Given the description of an element on the screen output the (x, y) to click on. 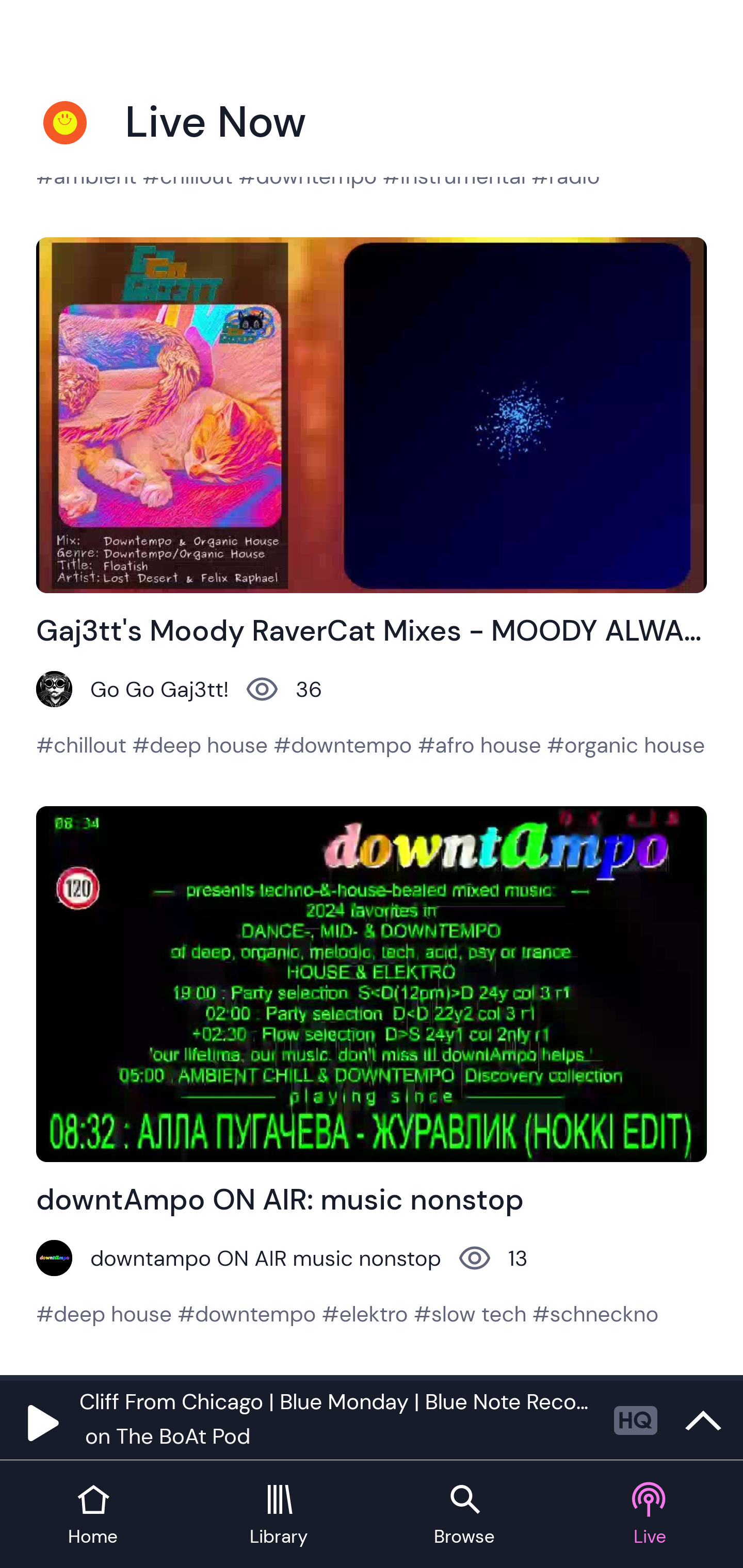
Home tab Home (92, 1515)
Library tab Library (278, 1515)
Browse tab Browse (464, 1515)
Live tab Live (650, 1515)
